Given the description of an element on the screen output the (x, y) to click on. 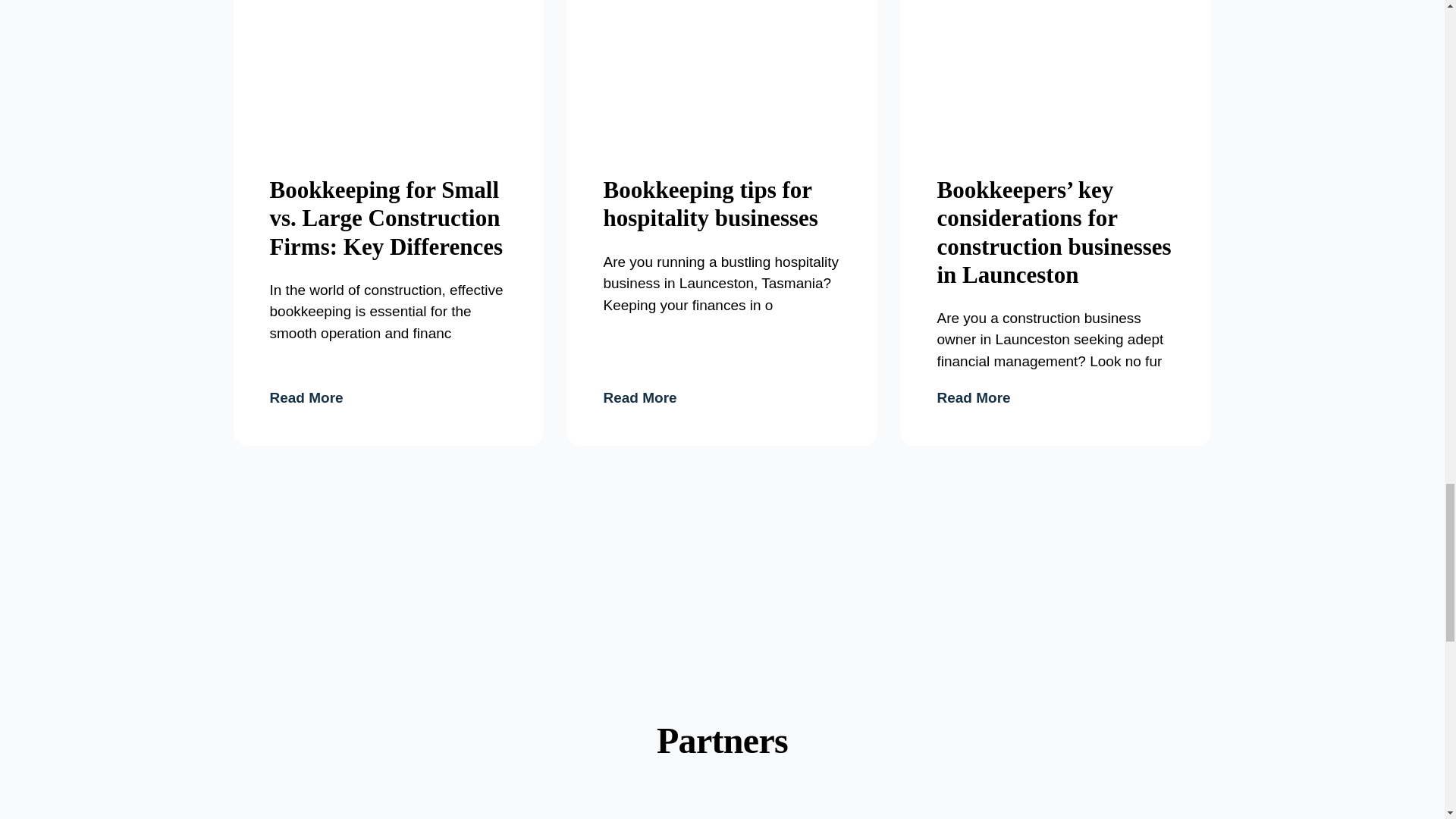
Read More (388, 397)
